Given the description of an element on the screen output the (x, y) to click on. 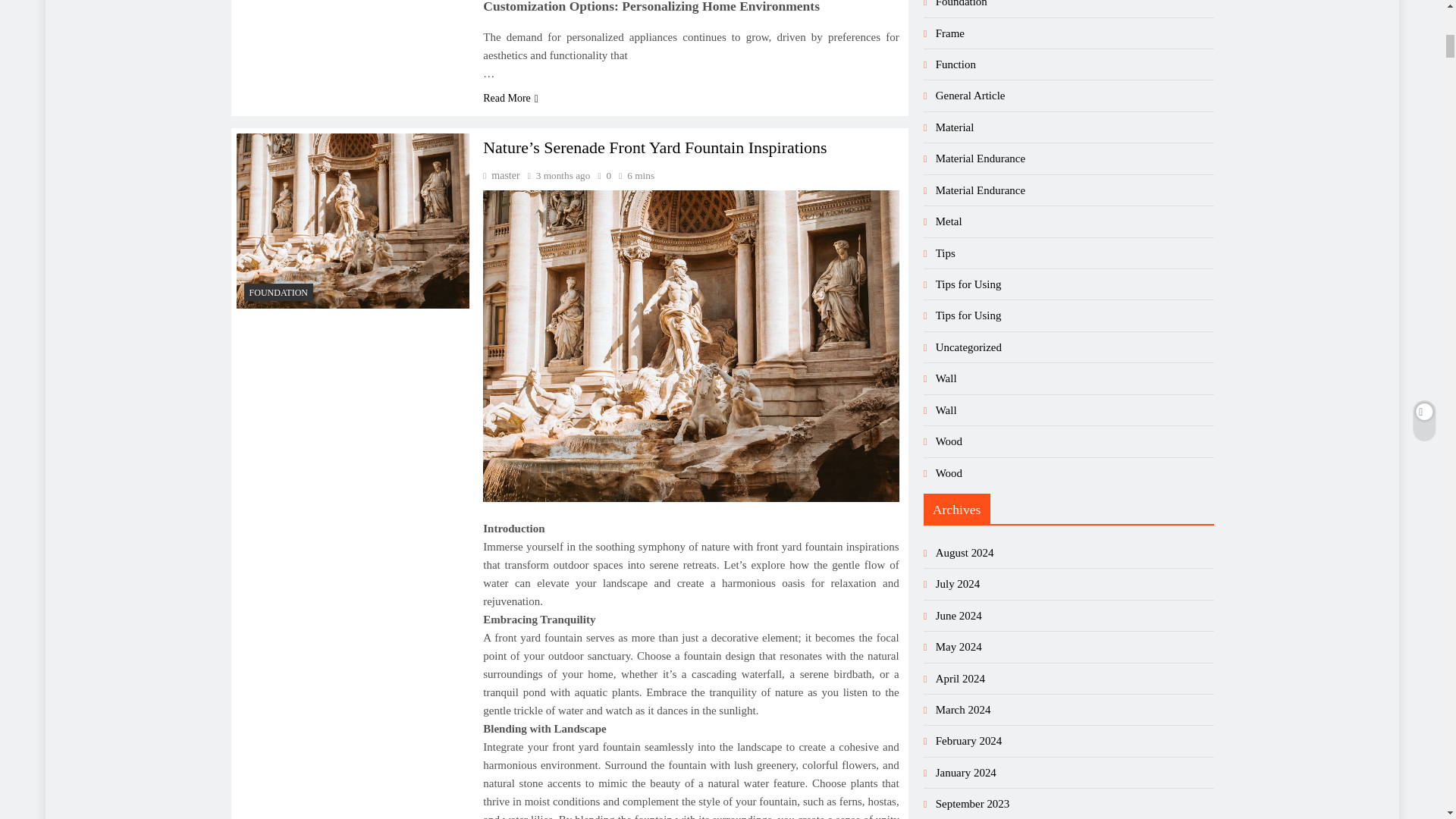
3 months ago (563, 174)
Read More (510, 98)
master (501, 174)
FOUNDATION (279, 292)
